Given the description of an element on the screen output the (x, y) to click on. 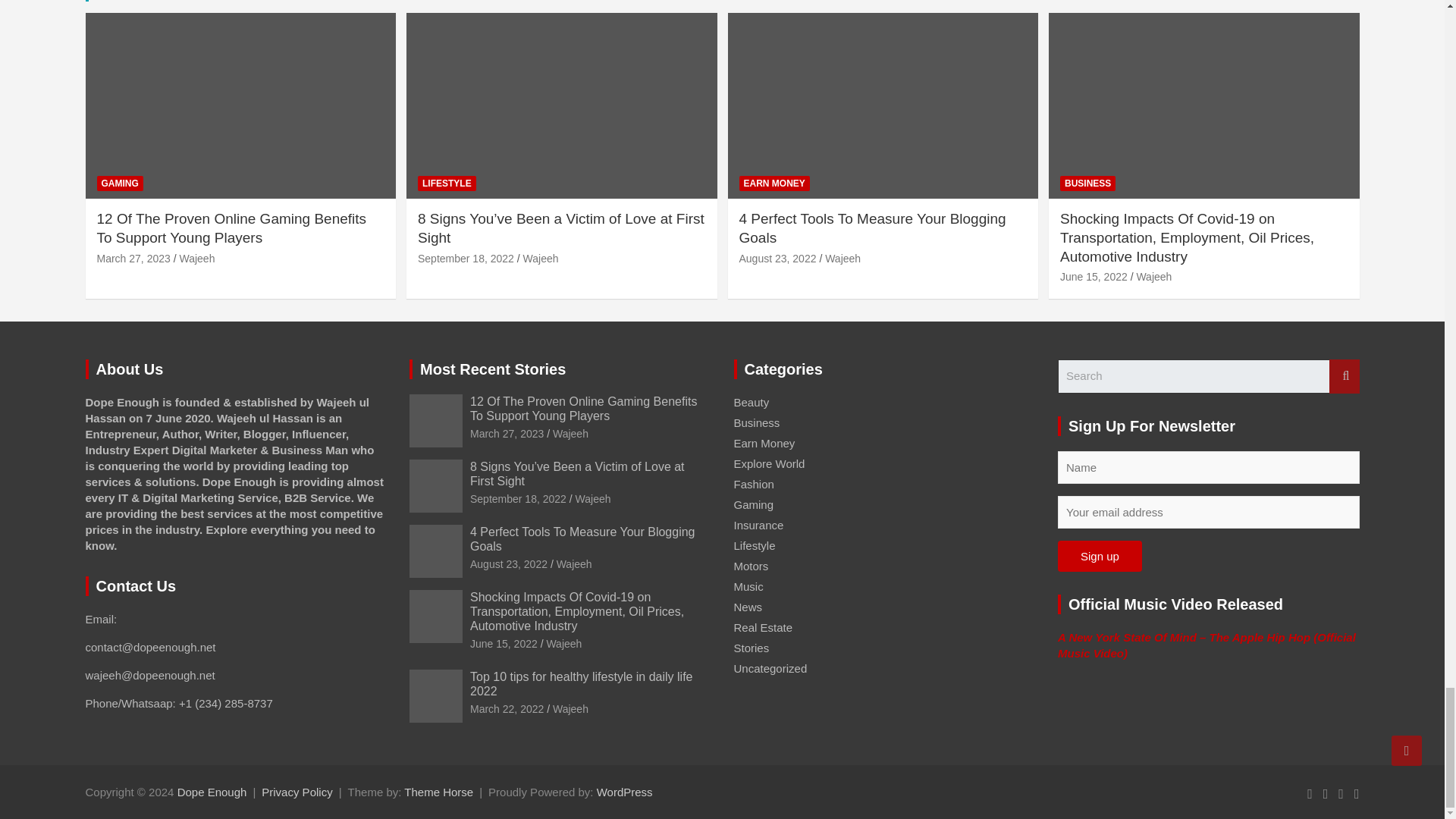
Sign up (1099, 554)
4 Perfect Tools To Measure Your Blogging Goals (776, 258)
